Given the description of an element on the screen output the (x, y) to click on. 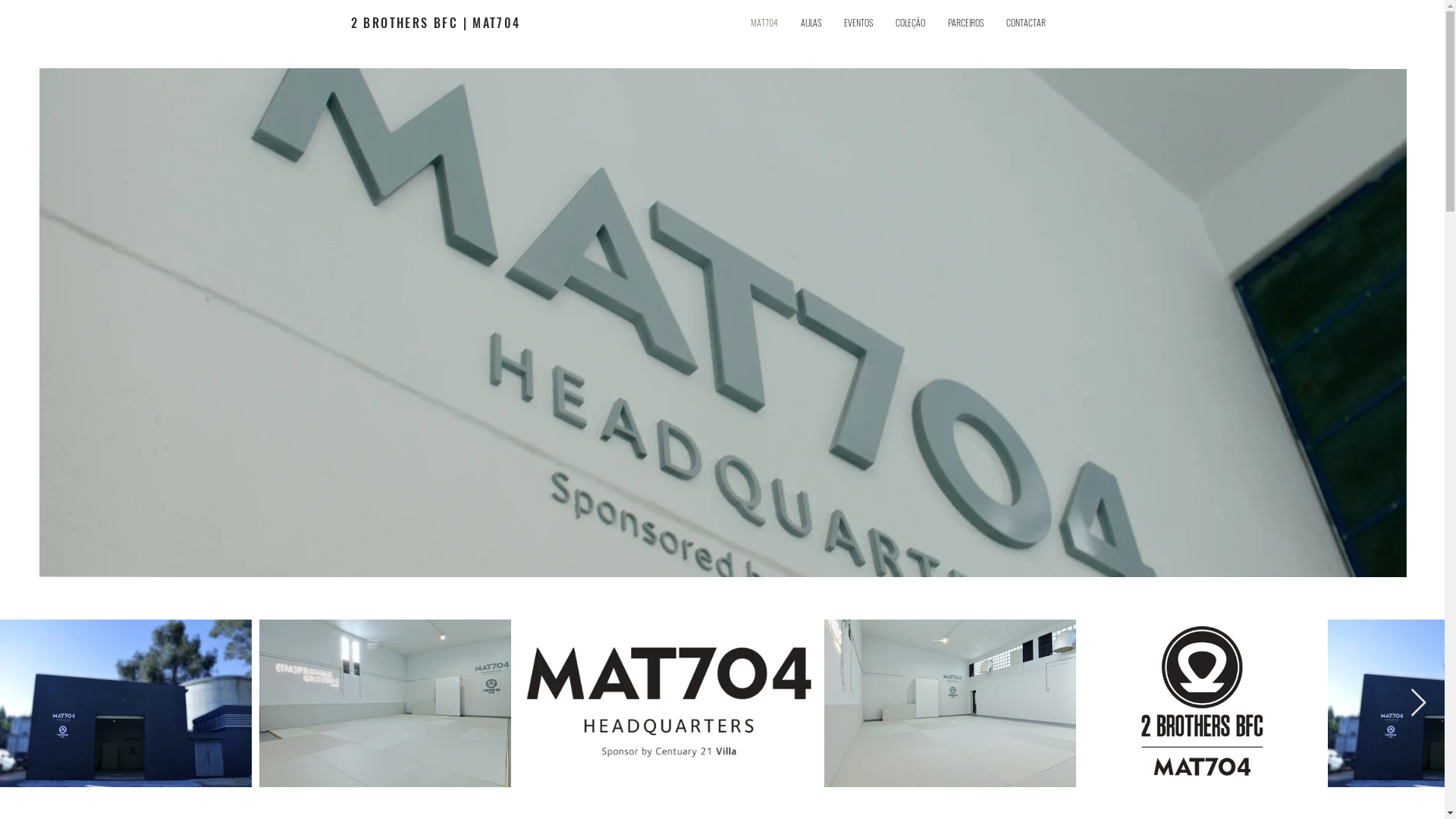
2 BROTHERS BFC | MAT704 Element type: text (435, 22)
CONTACTAR Element type: text (1025, 22)
MAT704 Element type: text (764, 22)
PARCEIROS Element type: text (965, 22)
